Given the description of an element on the screen output the (x, y) to click on. 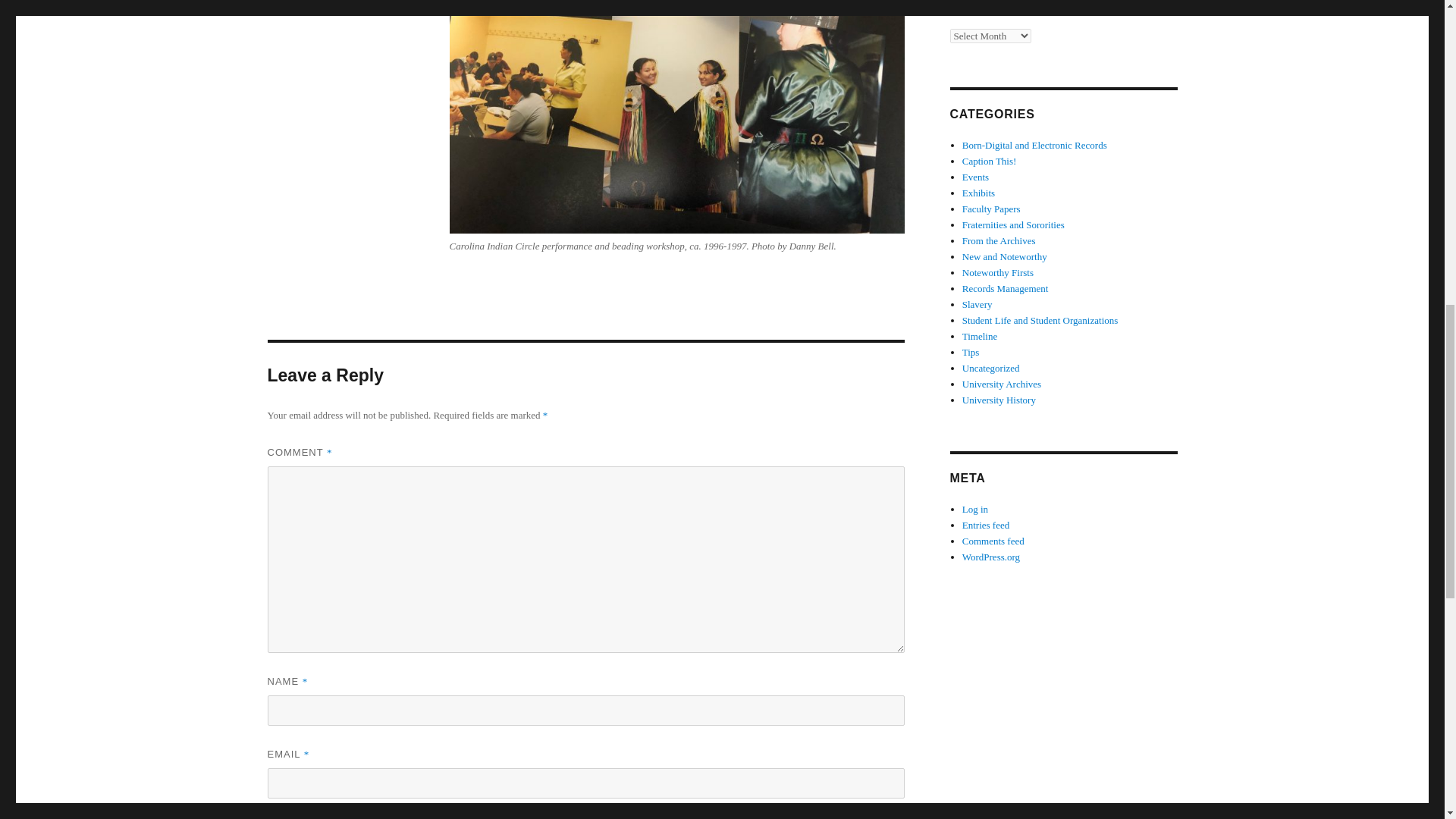
University Archives (1001, 383)
Timeline (979, 336)
Noteworthy Firsts (997, 272)
Events (975, 176)
Records Management (1005, 288)
Slavery (977, 304)
Fraternities and Sororities (1013, 224)
Uncategorized (991, 367)
Caption This! (989, 161)
New and Noteworthy (1004, 256)
Student Life and Student Organizations (1040, 319)
Born-Digital and Electronic Records (1034, 144)
Faculty Papers (991, 208)
Tips (970, 351)
From the Archives (998, 240)
